Given the description of an element on the screen output the (x, y) to click on. 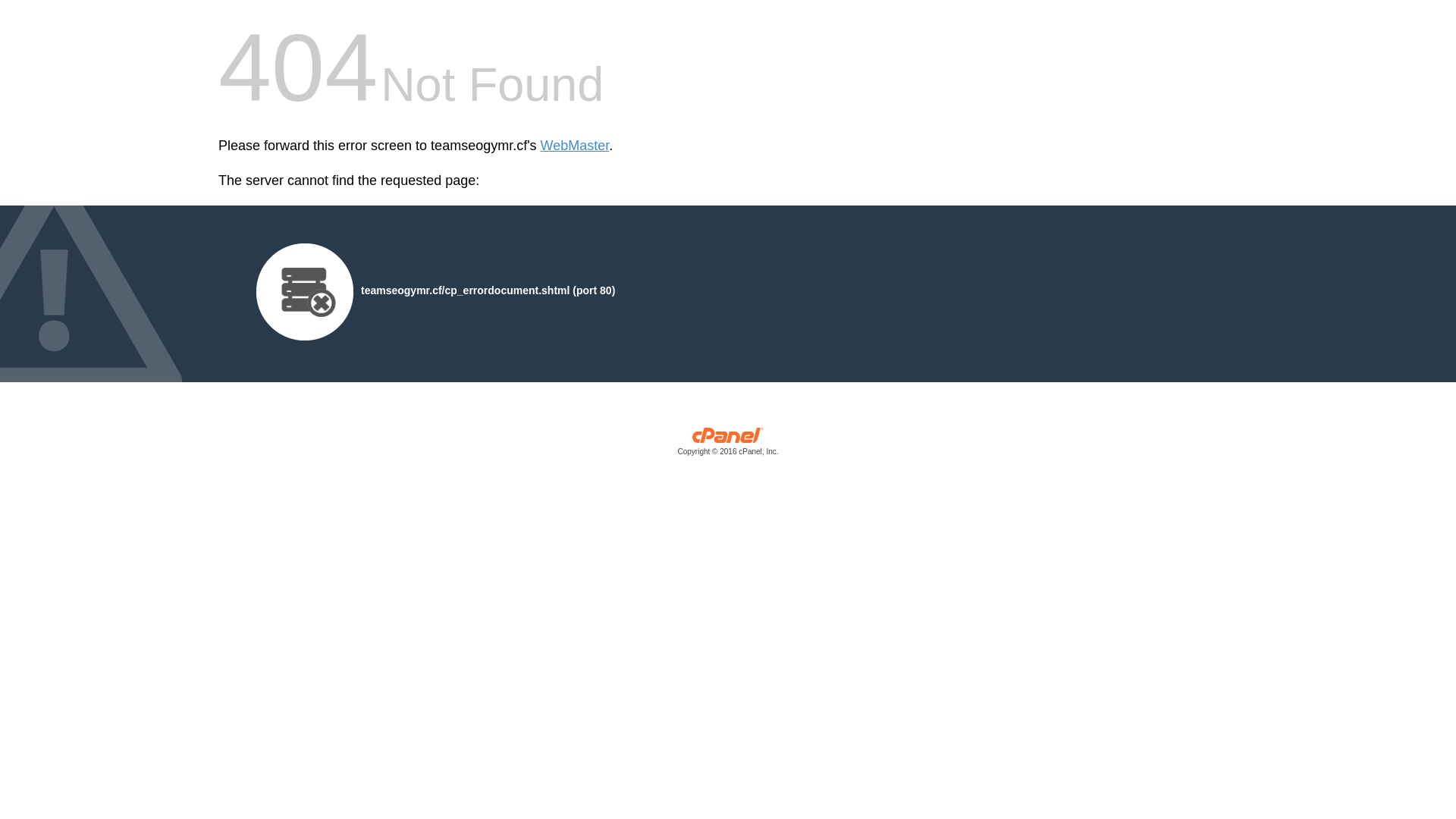
WebMaster Element type: text (574, 145)
